Given the description of an element on the screen output the (x, y) to click on. 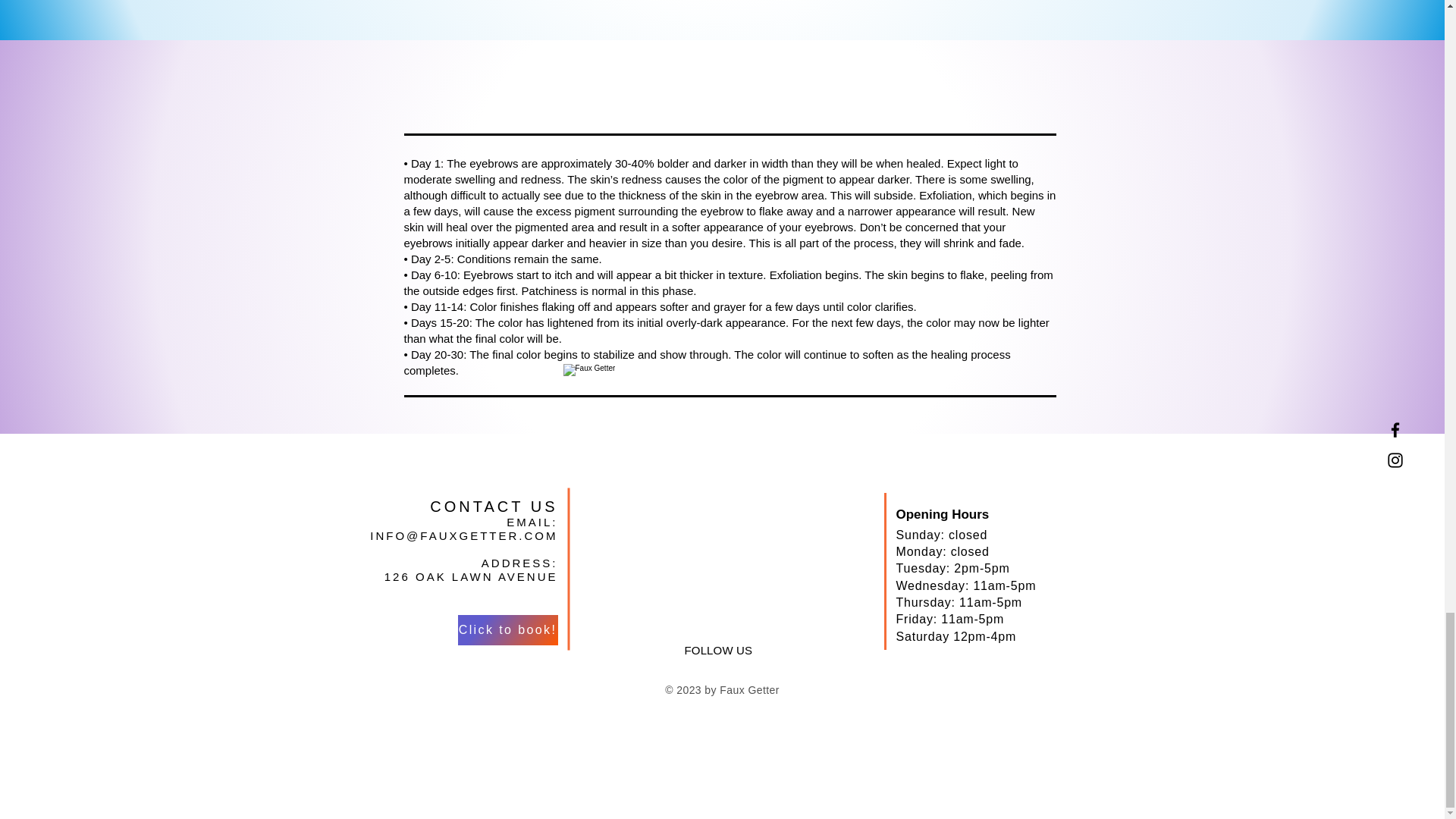
Click to book! (507, 630)
